Given the description of an element on the screen output the (x, y) to click on. 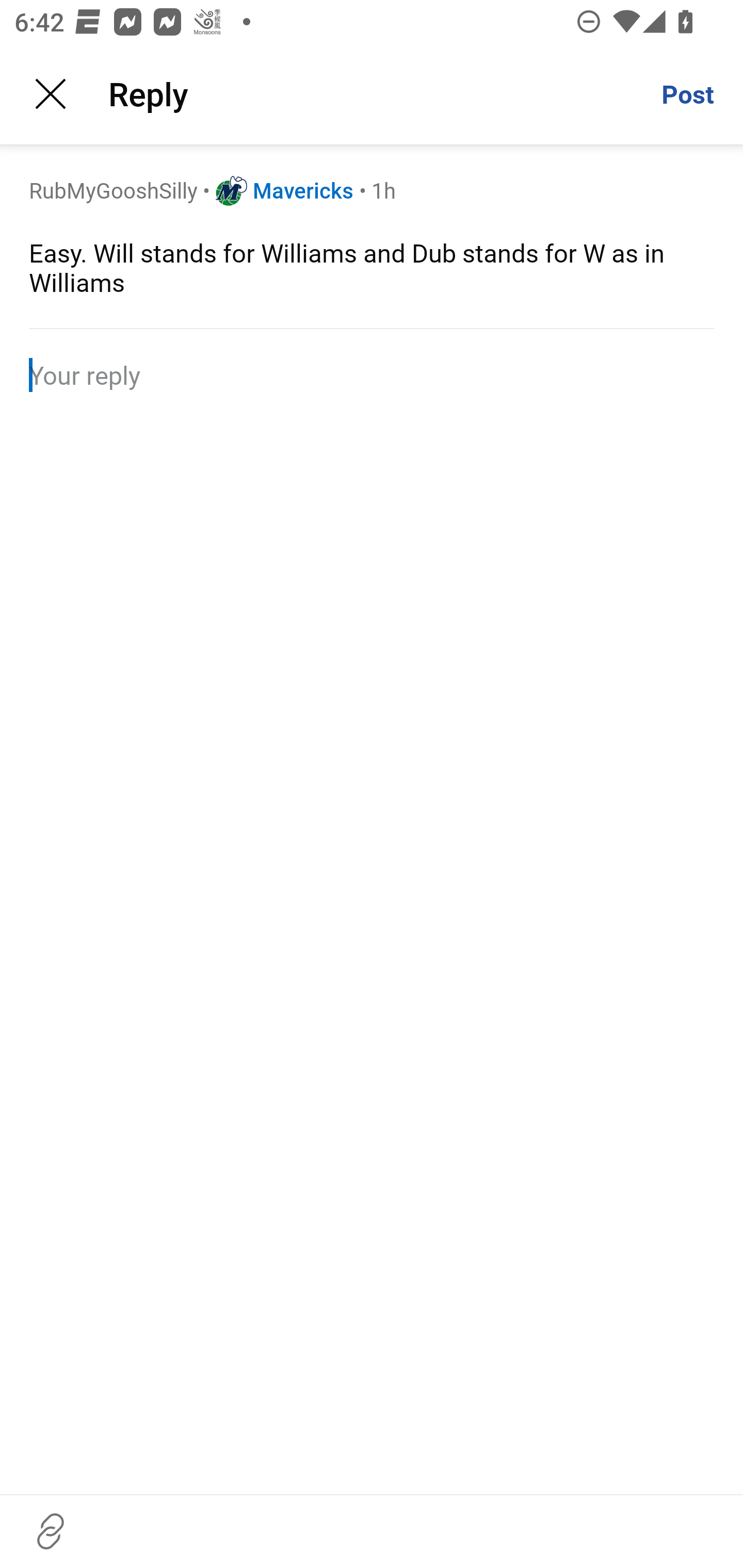
Close (50, 93)
Post (687, 94)
Your reply (371, 374)
Insert a link (50, 1530)
